Given the description of an element on the screen output the (x, y) to click on. 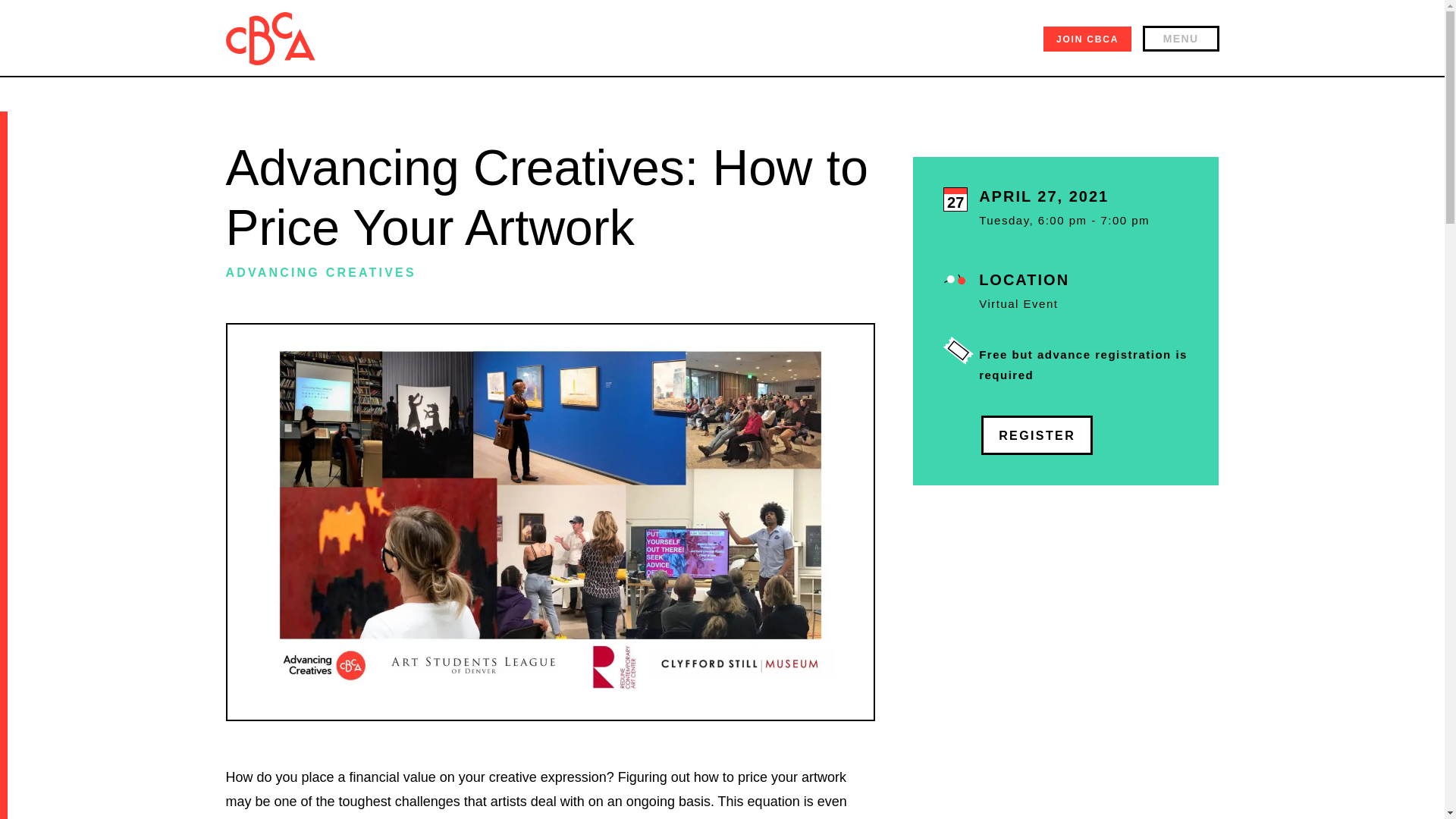
JOIN CBCA (1087, 38)
MENU (1181, 38)
ADVANCING CREATIVES (320, 272)
REGISTER (1037, 435)
